Given the description of an element on the screen output the (x, y) to click on. 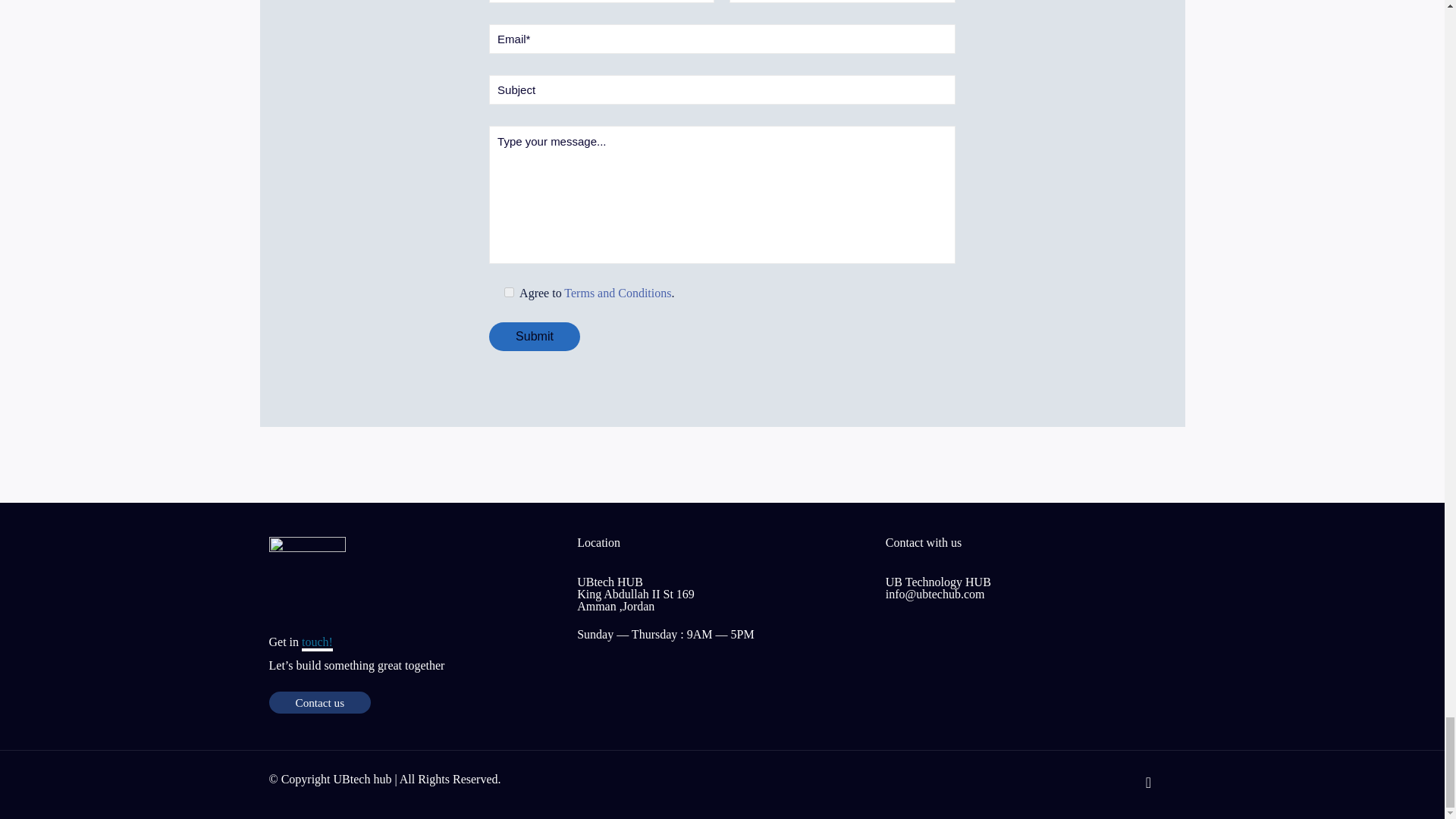
Contact us (319, 702)
Submit (534, 336)
Terms and Conditions (617, 292)
Submit (534, 336)
1 (508, 292)
